Given the description of an element on the screen output the (x, y) to click on. 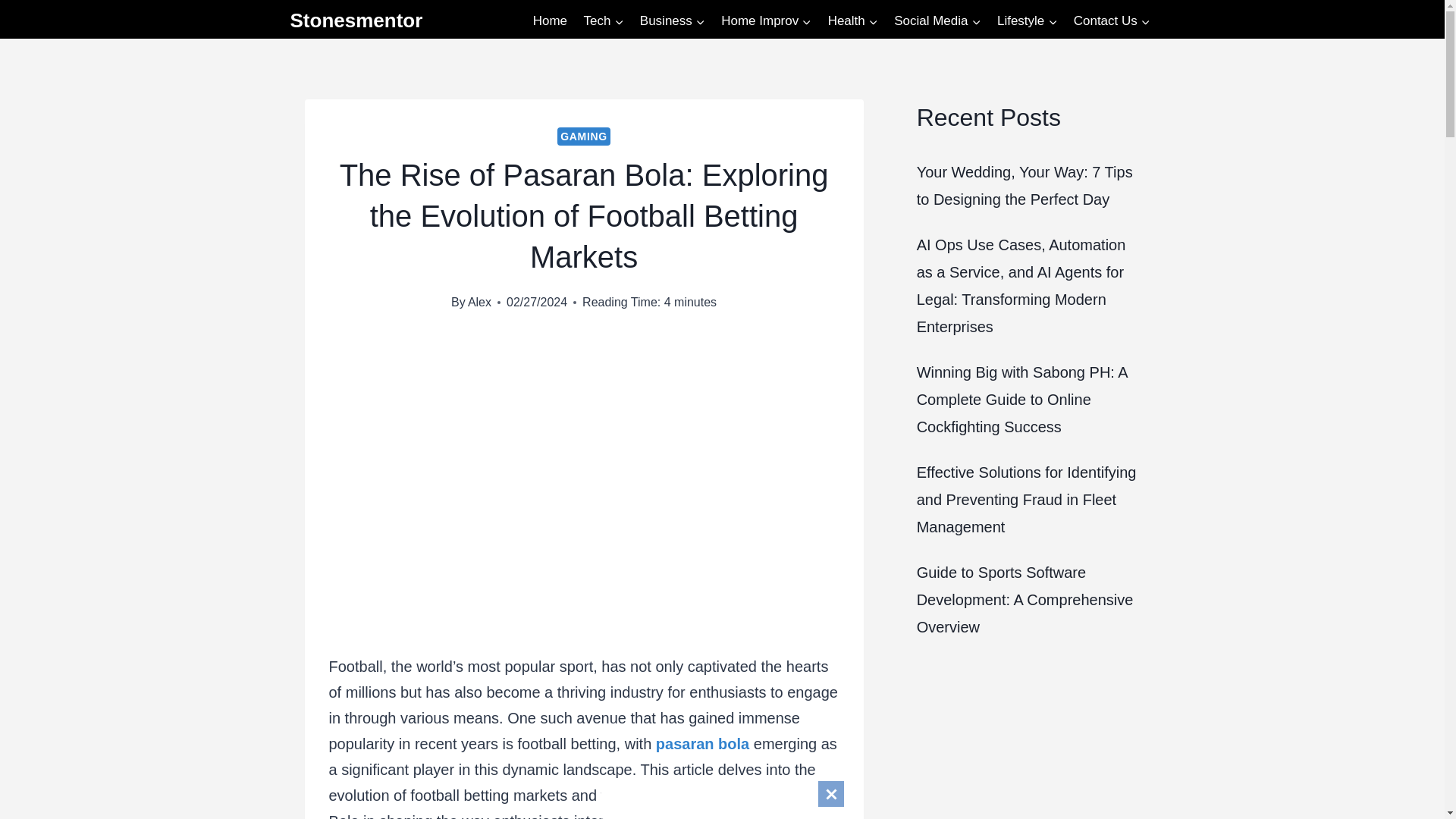
Tech (603, 21)
Business (672, 21)
Stonesmentor (355, 20)
Lifestyle (1026, 21)
Health (852, 21)
Home (549, 21)
Home Improv (765, 21)
Social Media (936, 21)
